Given the description of an element on the screen output the (x, y) to click on. 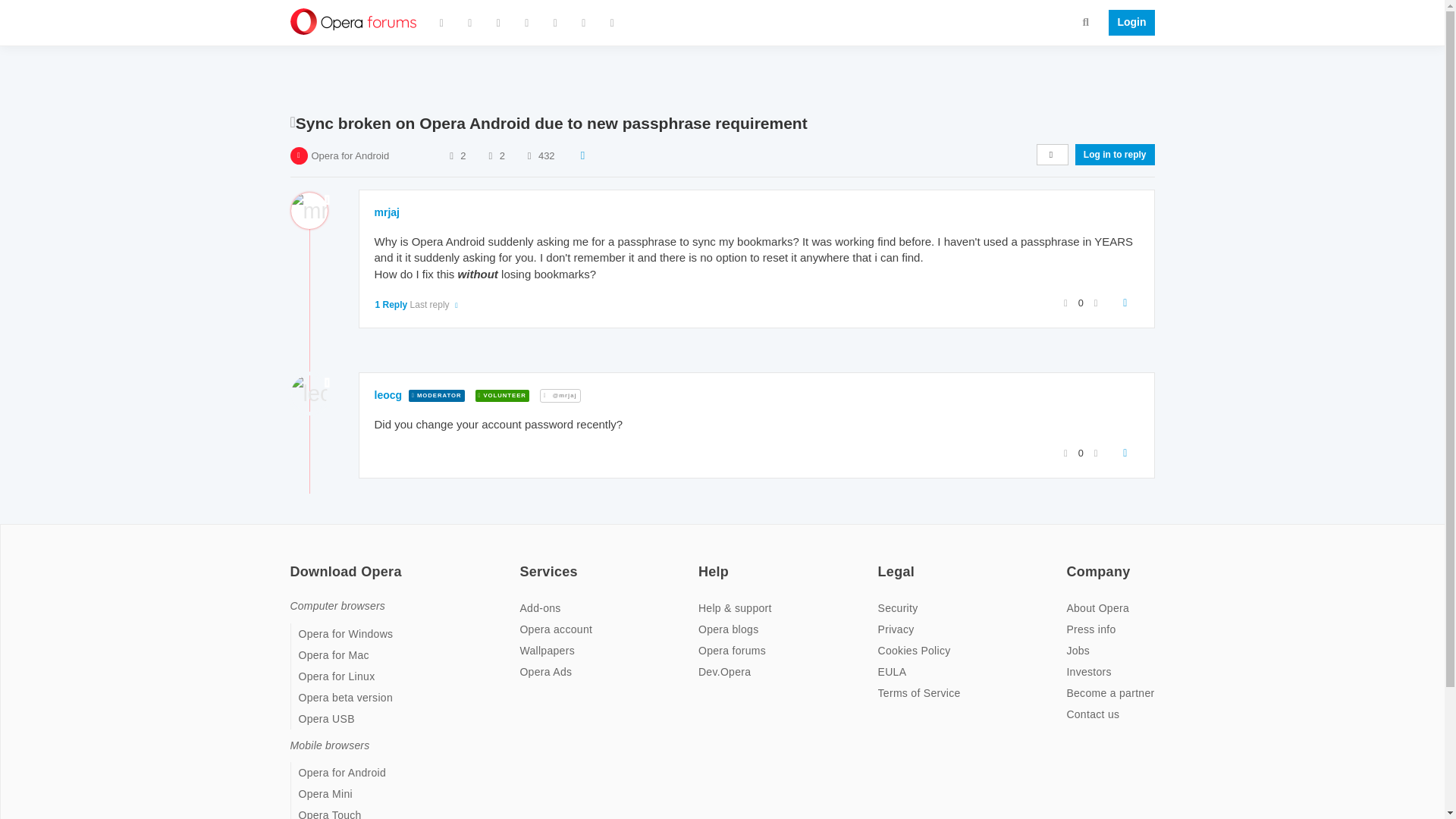
Posters (451, 155)
on (523, 561)
1 Reply Last reply (416, 304)
Login (1127, 22)
Opera for Android (349, 155)
mrjaj (386, 212)
on (293, 561)
on (702, 561)
on (881, 561)
Search (1085, 21)
